Given the description of an element on the screen output the (x, y) to click on. 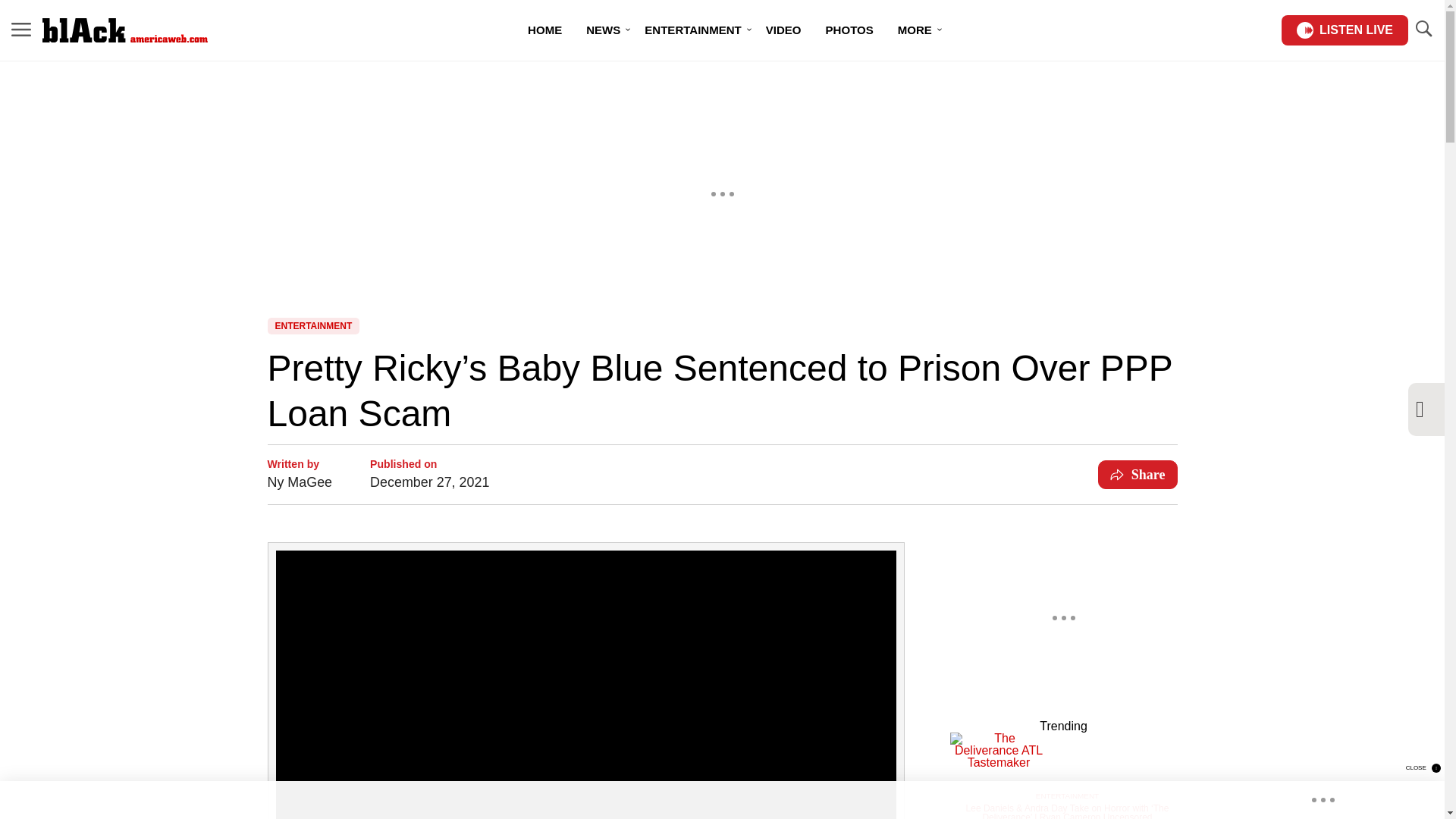
HOME (544, 30)
PHOTOS (849, 30)
VIDEO (783, 30)
MENU (20, 30)
ENTERTAINMENT (312, 325)
TOGGLE SEARCH (1422, 30)
ENTERTAINMENT (691, 30)
MORE (914, 30)
NEWS (602, 30)
TOGGLE SEARCH (1422, 28)
